Given the description of an element on the screen output the (x, y) to click on. 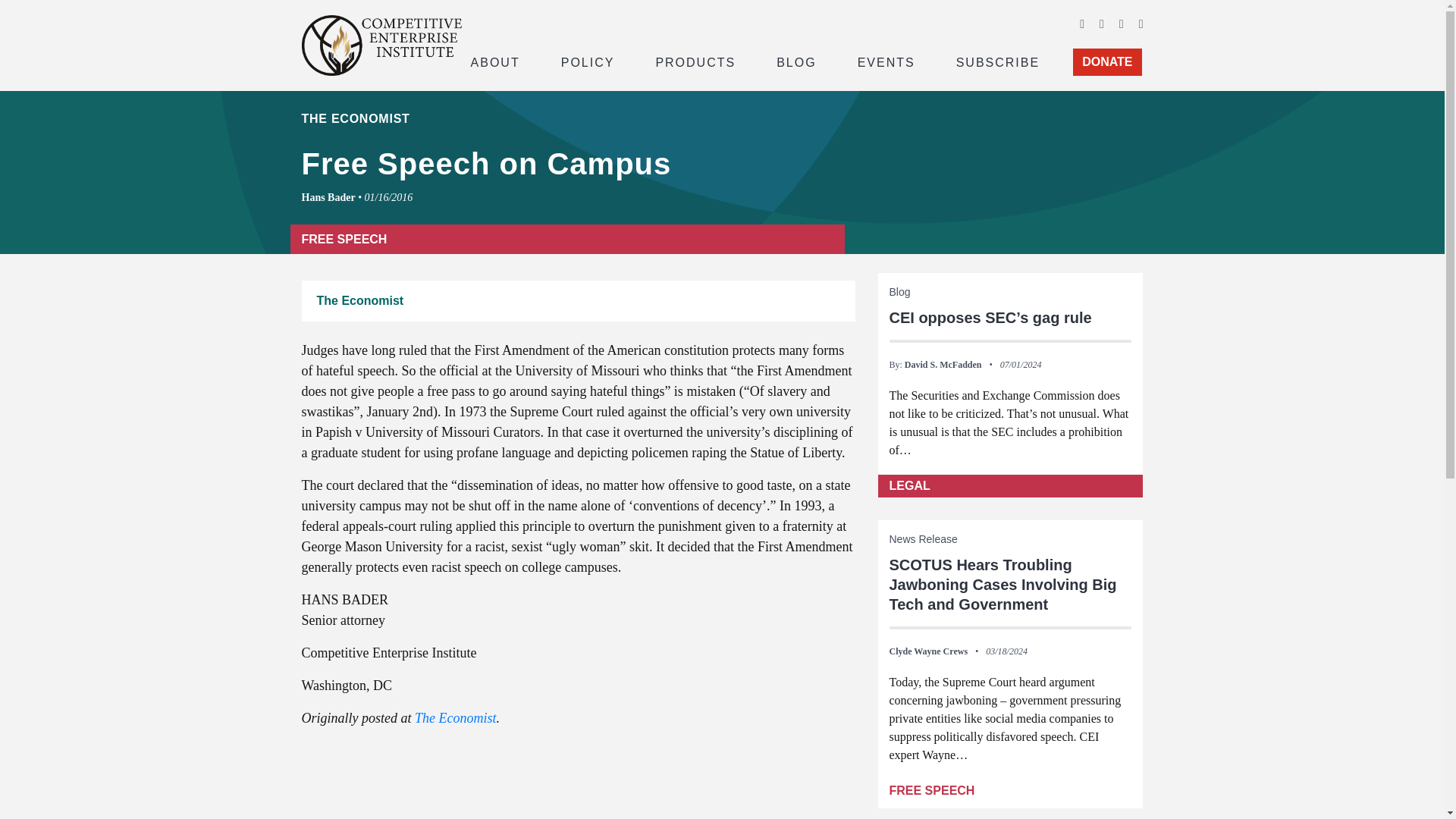
BLOG (796, 61)
PRODUCTS (694, 61)
POLICY (588, 61)
DONATE (1107, 62)
SUBSCRIBE (997, 61)
EVENTS (886, 61)
ABOUT (495, 61)
